Given the description of an element on the screen output the (x, y) to click on. 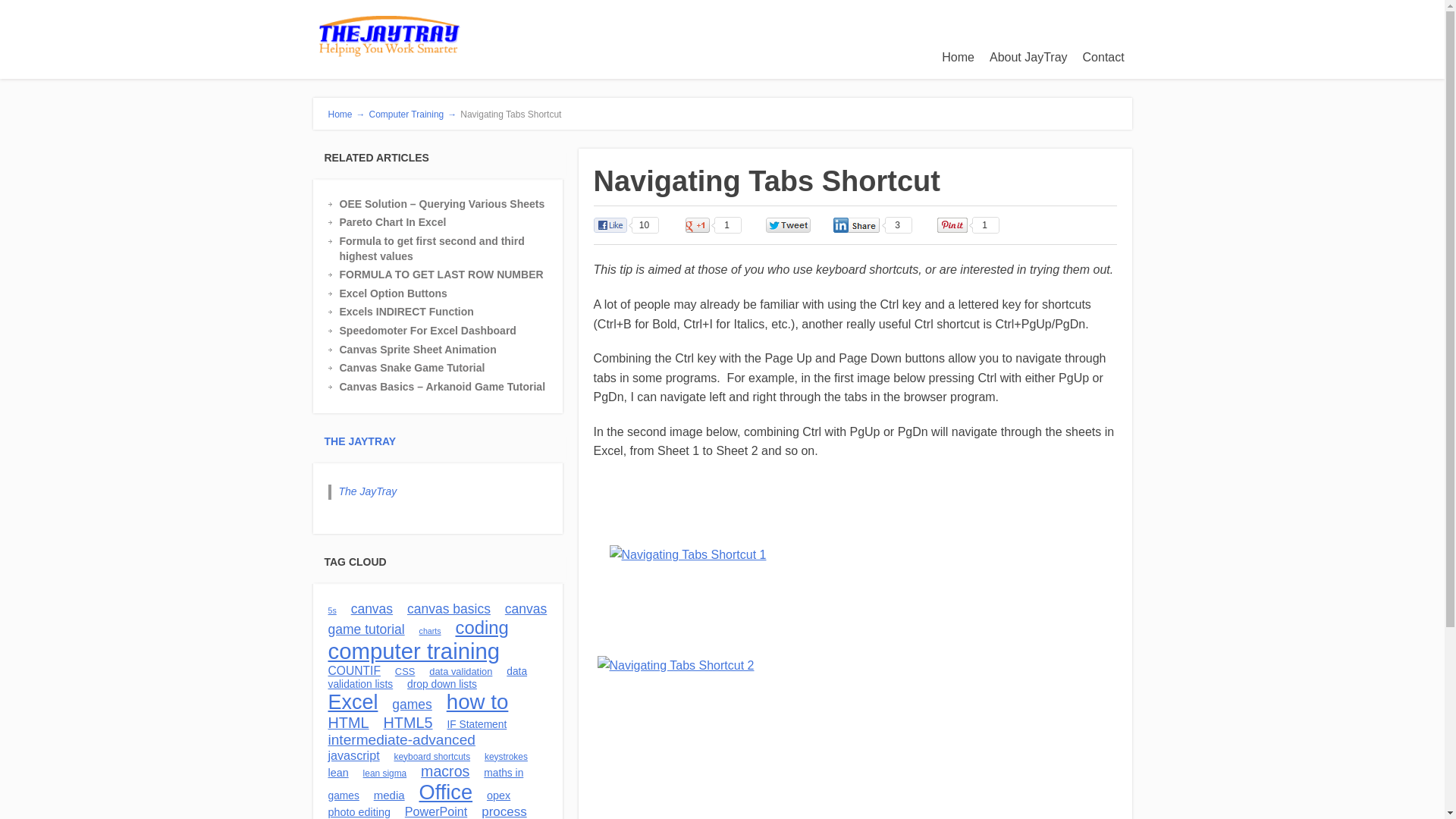
canvas (371, 608)
Canvas Sprite Sheet Animation (449, 350)
Pareto Chart In Excel (449, 222)
how to (477, 701)
Home (957, 57)
data validation (460, 671)
computer training (413, 650)
Formula to get first second and third highest values (449, 248)
Contact (1103, 57)
About JayTray (1028, 57)
CSS (404, 671)
data validation lists (427, 677)
Speedomoter For Excel Dashboard (449, 331)
drop down lists (442, 684)
THE JAYTRAY (360, 440)
